Given the description of an element on the screen output the (x, y) to click on. 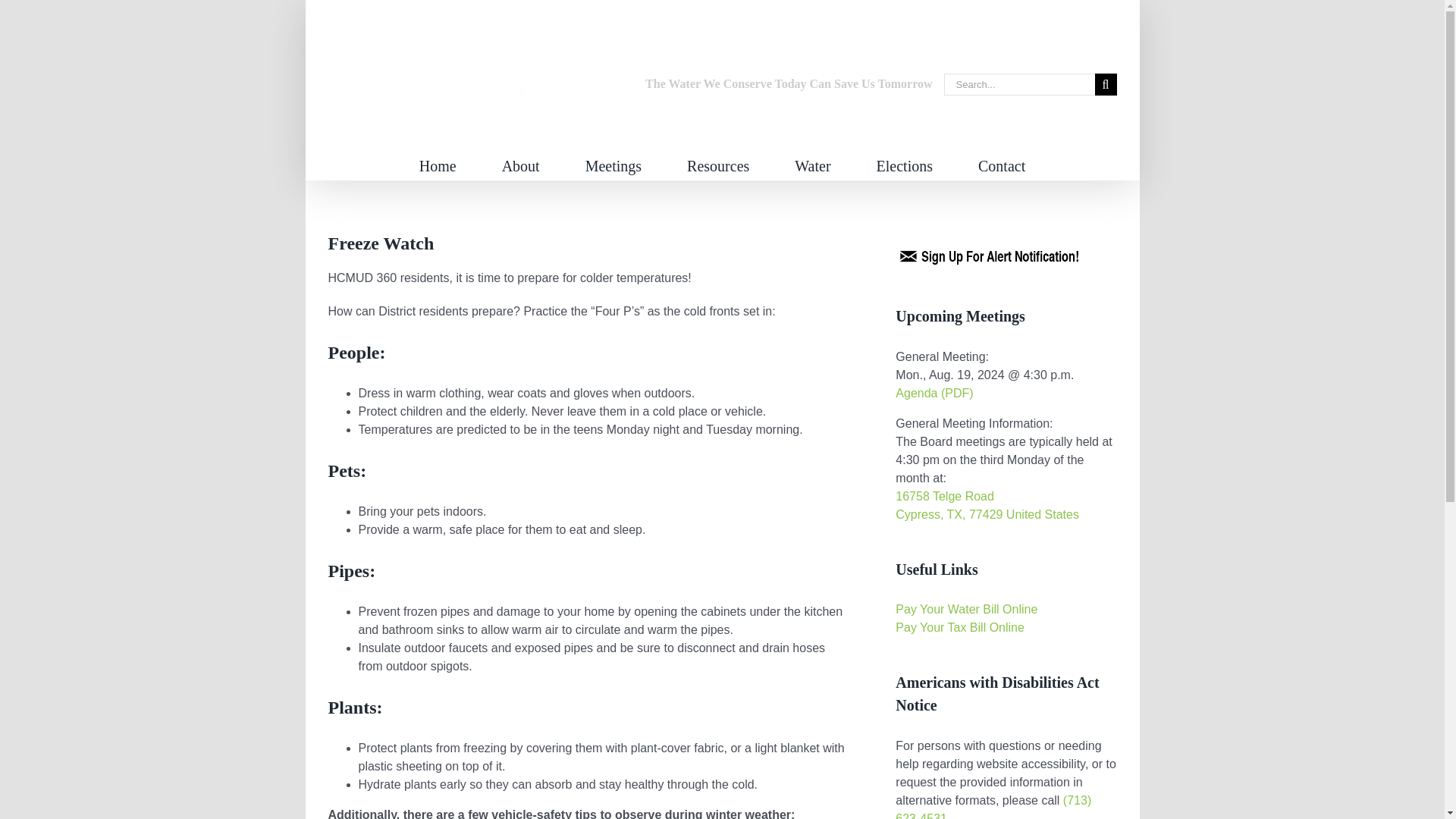
Contact (1001, 164)
About (521, 164)
Elections (904, 164)
Resources (718, 164)
Home (438, 164)
Meetings (613, 164)
Water (811, 164)
